Given the description of an element on the screen output the (x, y) to click on. 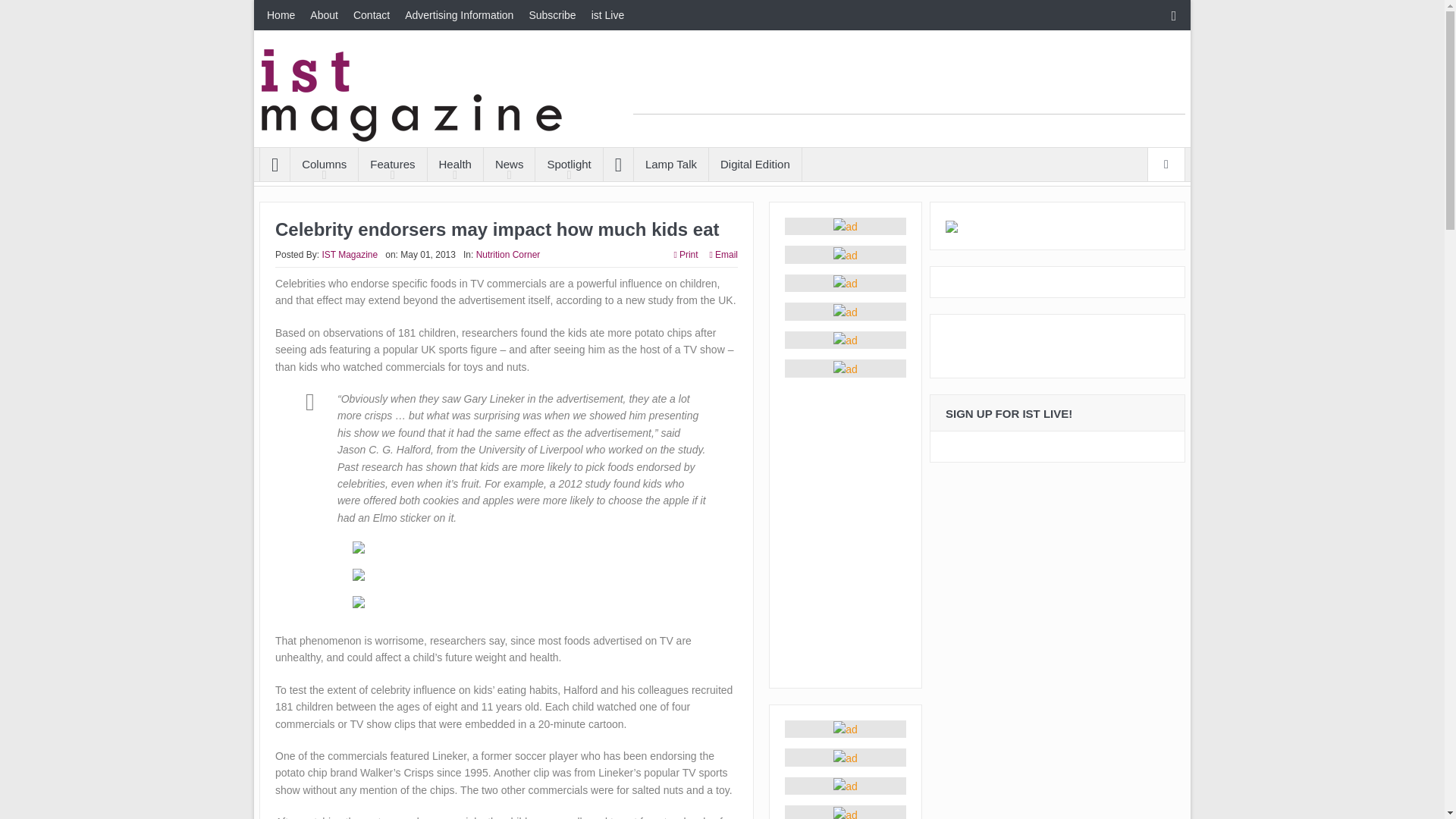
Subscribe (552, 15)
Home (280, 15)
Advertising Information (459, 15)
Columns (323, 164)
About (324, 15)
Contact (371, 15)
Features (392, 164)
Health (455, 164)
ist Live (607, 15)
